Given the description of an element on the screen output the (x, y) to click on. 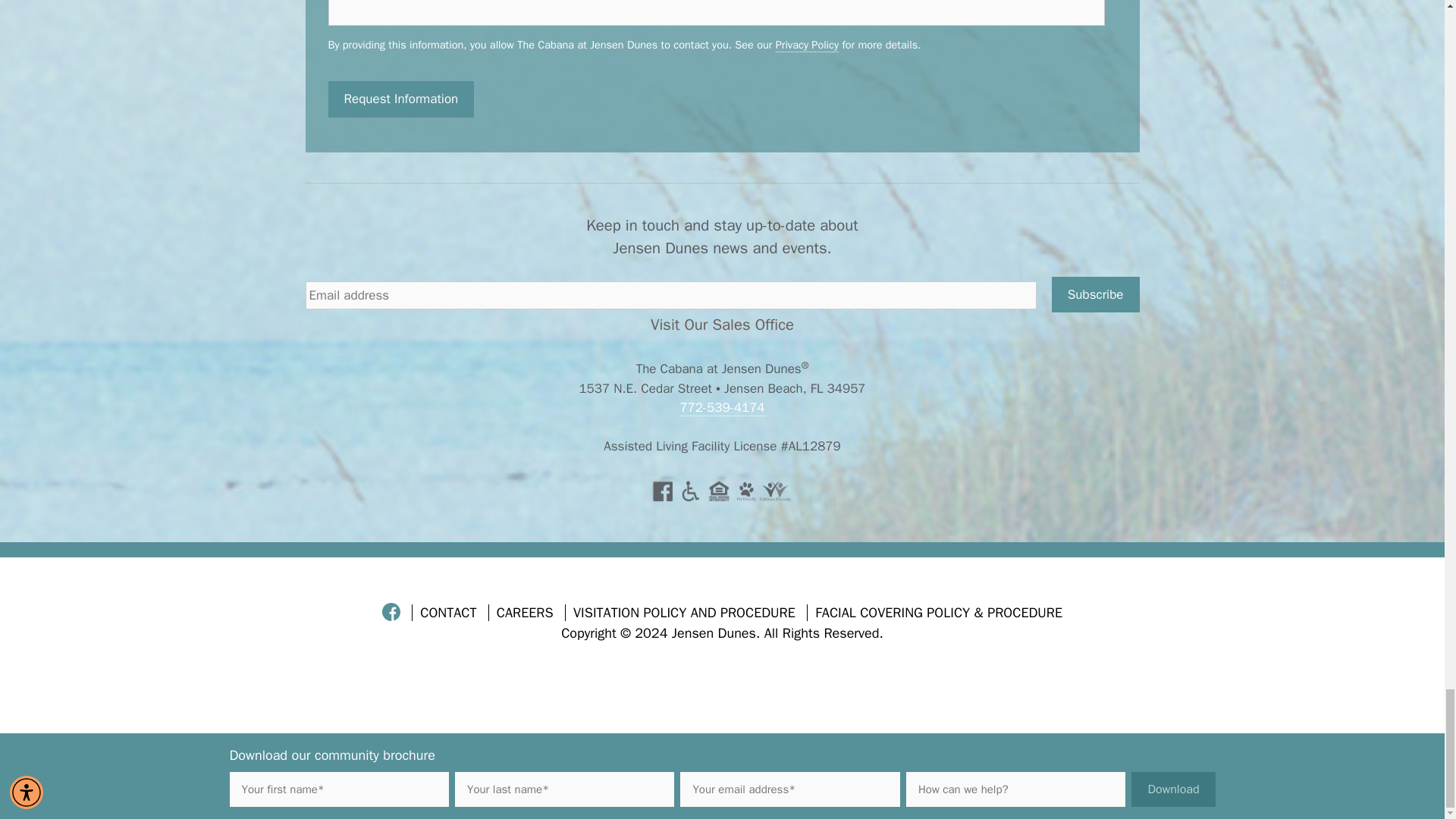
Request Information (400, 99)
Subscribe (1095, 294)
